Given the description of an element on the screen output the (x, y) to click on. 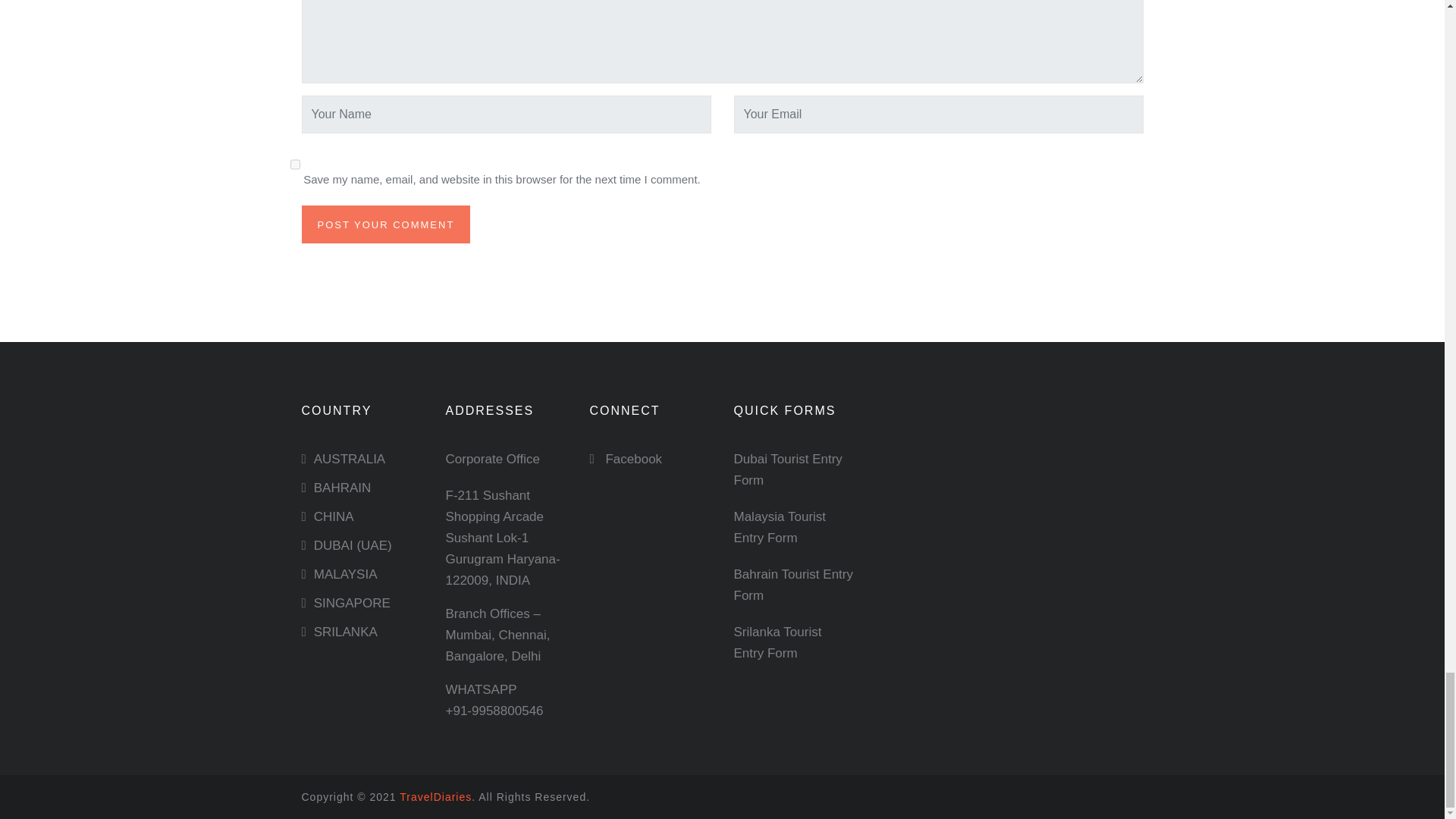
Post Your Comment (385, 224)
yes (294, 164)
MALAYSIA (345, 574)
BAHRAIN (342, 487)
CHINA (333, 516)
SINGAPORE (352, 603)
Facebook (625, 459)
AUSTRALIA (349, 459)
Post Your Comment (385, 224)
SRILANKA (345, 631)
